Given the description of an element on the screen output the (x, y) to click on. 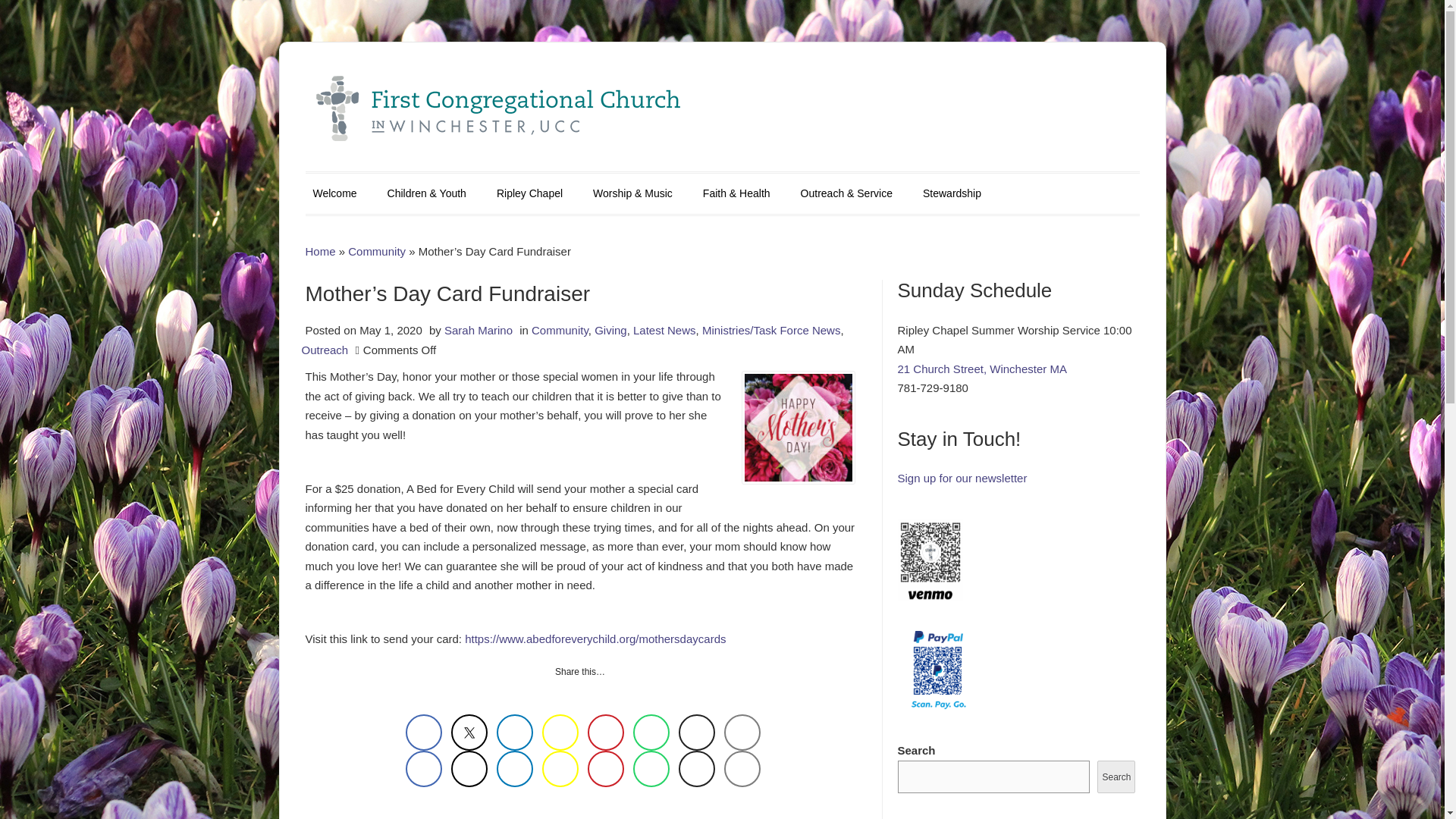
Posts by Sarah Marino (478, 329)
Ripley Chapel (529, 193)
Welcome (334, 193)
